Given the description of an element on the screen output the (x, y) to click on. 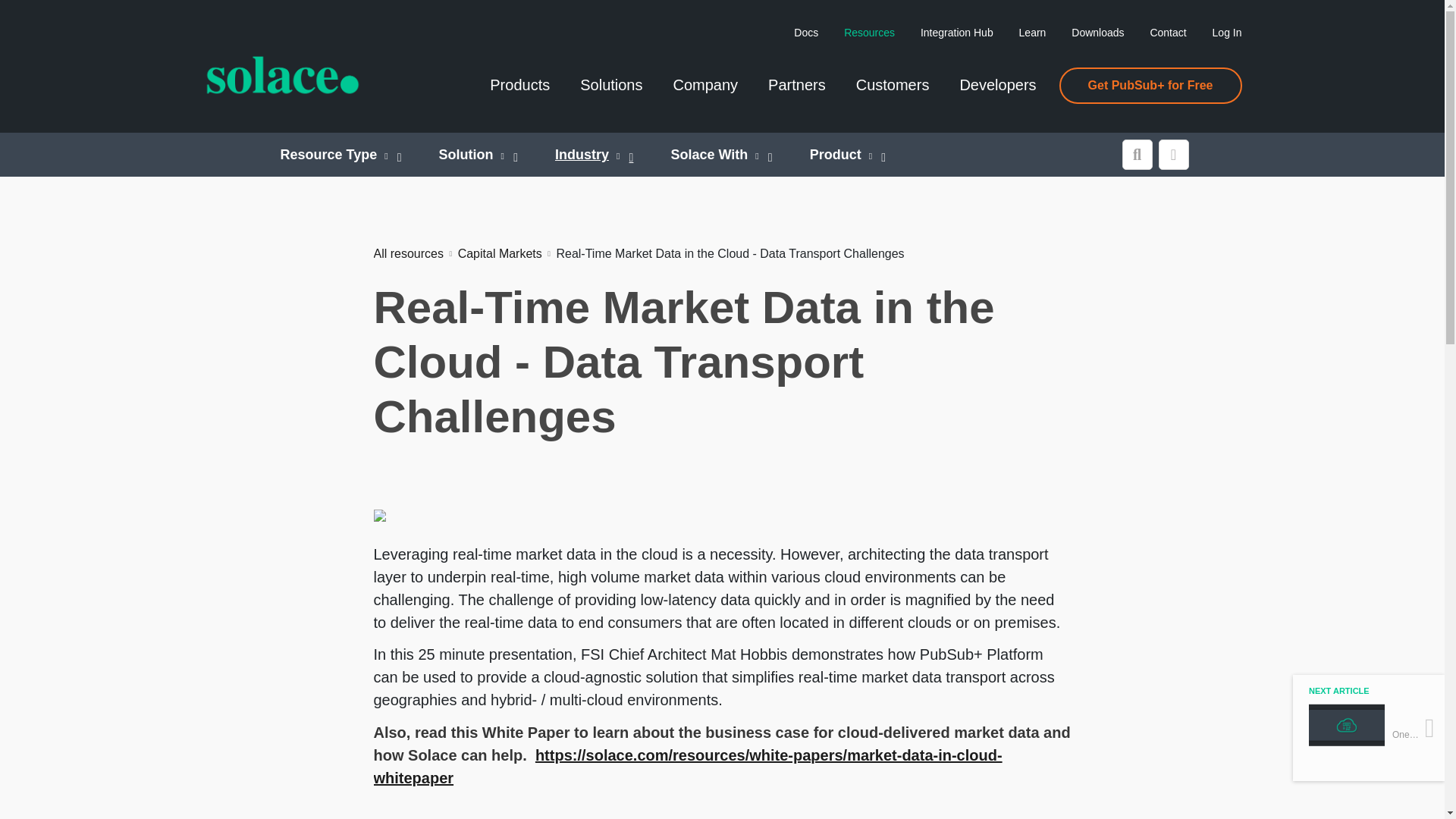
Learn (1032, 32)
Open Search Box (1137, 154)
Products (512, 92)
Share this Post (1173, 154)
Resources (869, 32)
Docs (805, 32)
Solutions (603, 92)
Log In (1226, 32)
Contact (1168, 32)
Downloads (1097, 32)
